Given the description of an element on the screen output the (x, y) to click on. 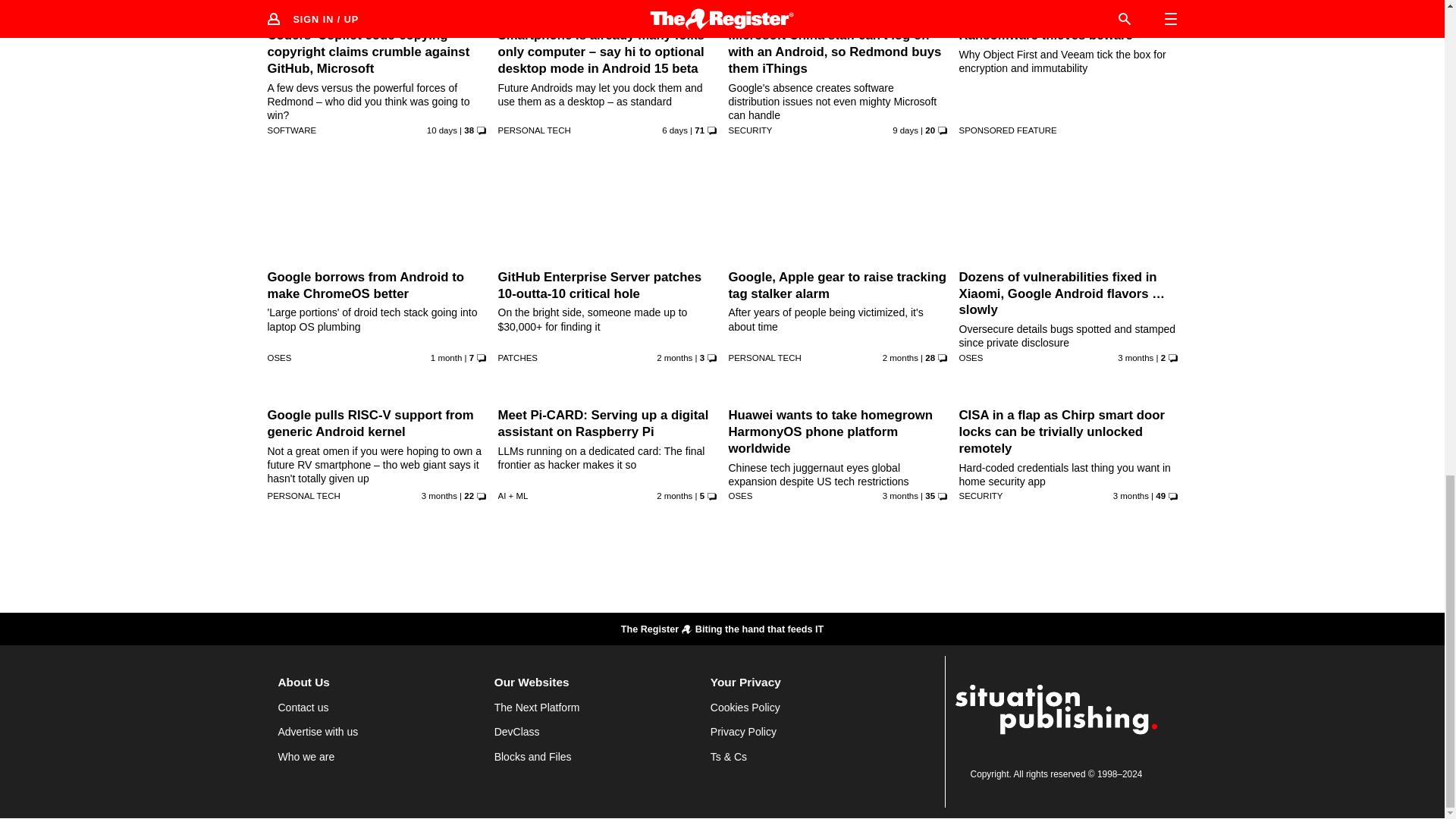
15 May 2024 14:30 (674, 495)
12 Jul 2024 11:17 (674, 130)
2 May 2024 20:0 (1135, 357)
14 May 2024 13:30 (900, 357)
8 Jul 2024 23:24 (441, 130)
22 May 2024 7:31 (674, 357)
9 Jul 2024 6:32 (905, 130)
1 May 2024 17:36 (439, 495)
12 Jun 2024 23:59 (445, 357)
